Given the description of an element on the screen output the (x, y) to click on. 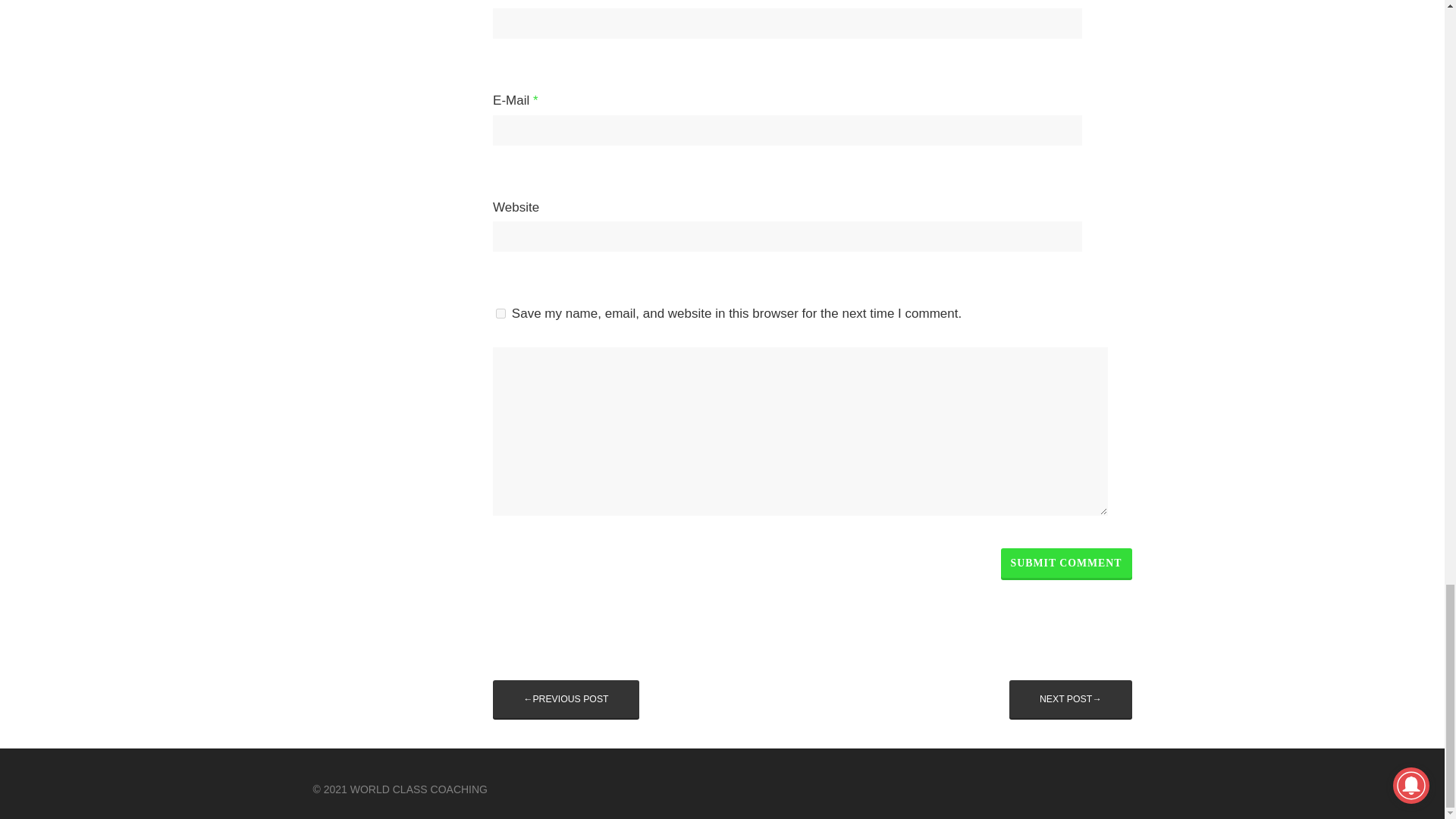
SUBMIT COMMENT (1066, 562)
yes (500, 313)
